Given the description of an element on the screen output the (x, y) to click on. 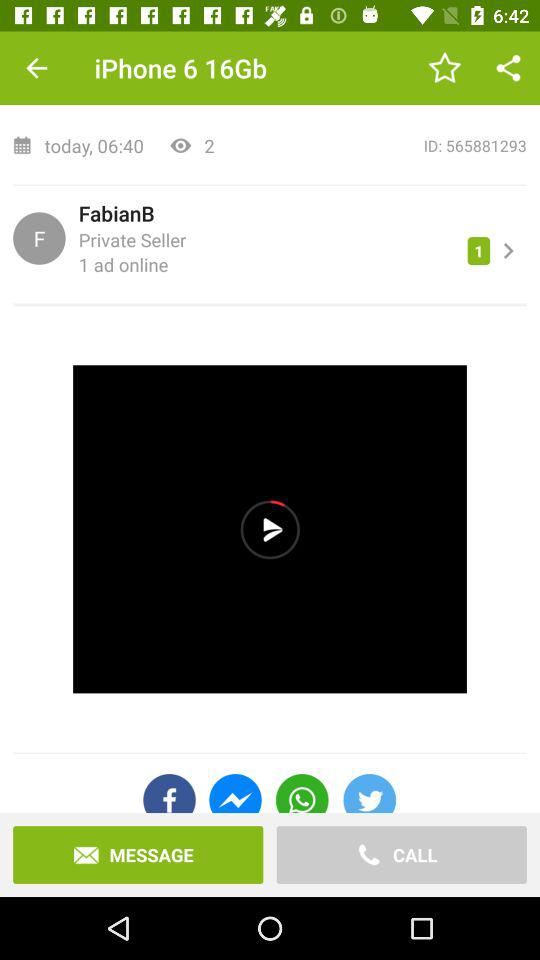
click the id: 565881293 (377, 145)
